Given the description of an element on the screen output the (x, y) to click on. 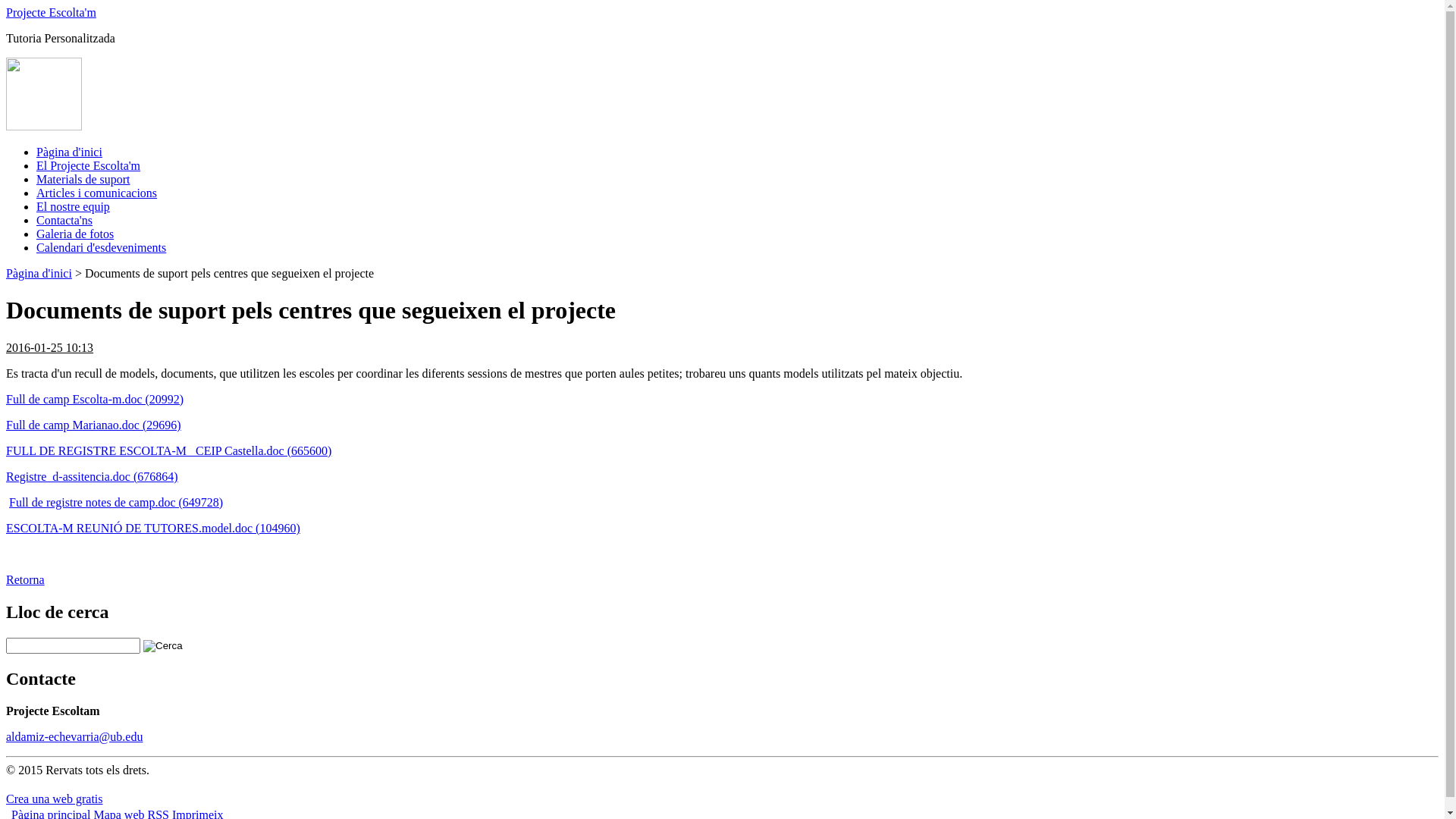
Full de registre notes de camp.doc (649728) Element type: text (115, 501)
Projecte Escolta'm Element type: text (51, 12)
Cerca Element type: hover (162, 646)
El Projecte Escolta'm Element type: text (88, 165)
El nostre equip Element type: text (72, 206)
Crea una web gratis Element type: text (54, 797)
Full de camp Marianao.doc (29696) Element type: text (93, 424)
Materials de suport Element type: text (83, 178)
Retorna Element type: text (25, 579)
FULL DE REGISTRE ESCOLTA-M_ CEIP Castella.doc (665600) Element type: text (168, 450)
Articles i comunicacions Element type: text (96, 192)
Full de camp Escolta-m.doc (20992) Element type: text (94, 398)
Calendari d'esdeveniments Element type: text (101, 247)
Galeria de fotos Element type: text (74, 233)
Registre_d-assitencia.doc (676864) Element type: text (92, 476)
aldamiz-echevarria@ub.edu Element type: text (74, 735)
Contacta'ns Element type: text (64, 219)
